Given the description of an element on the screen output the (x, y) to click on. 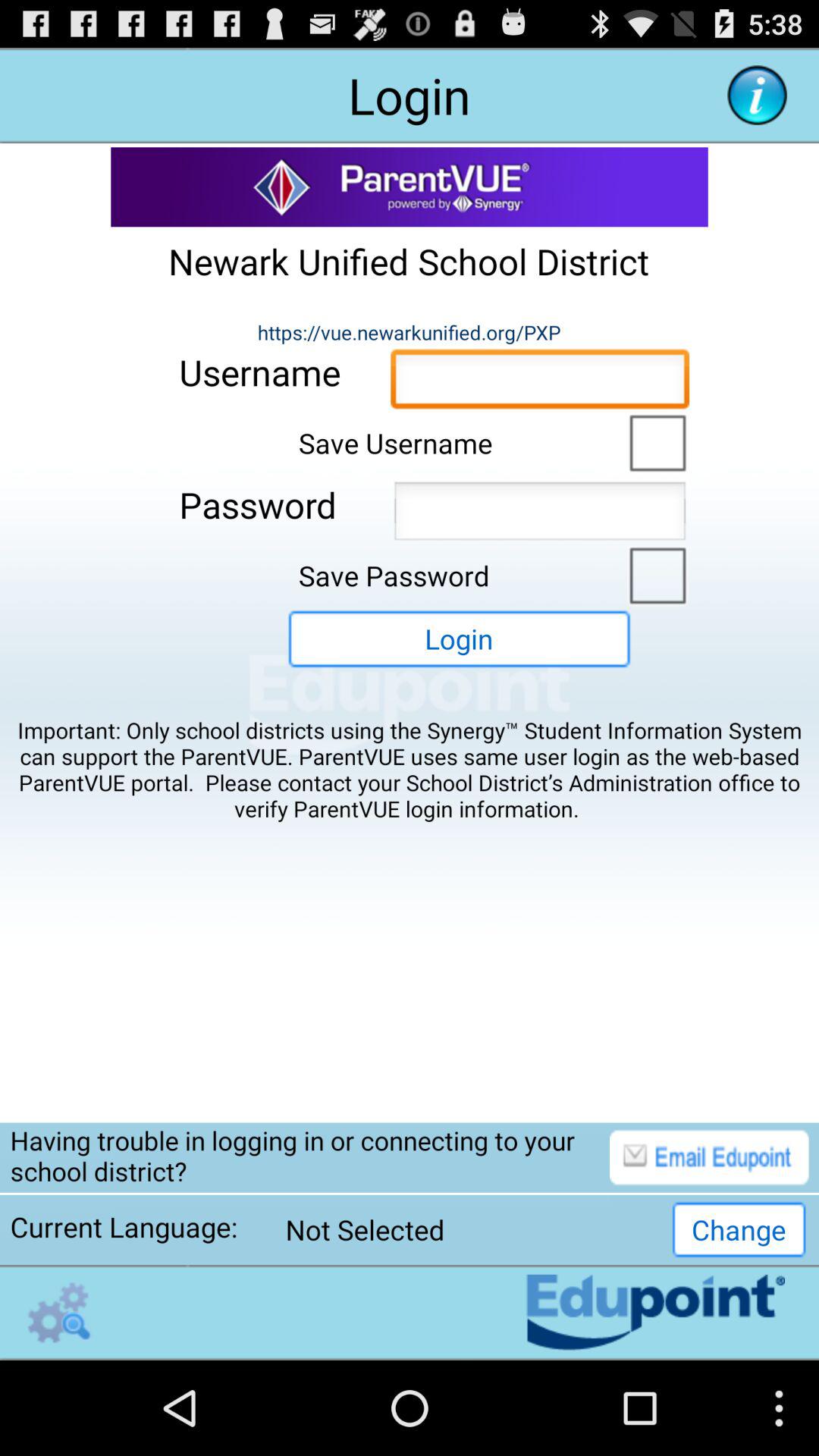
password box (539, 515)
